Given the description of an element on the screen output the (x, y) to click on. 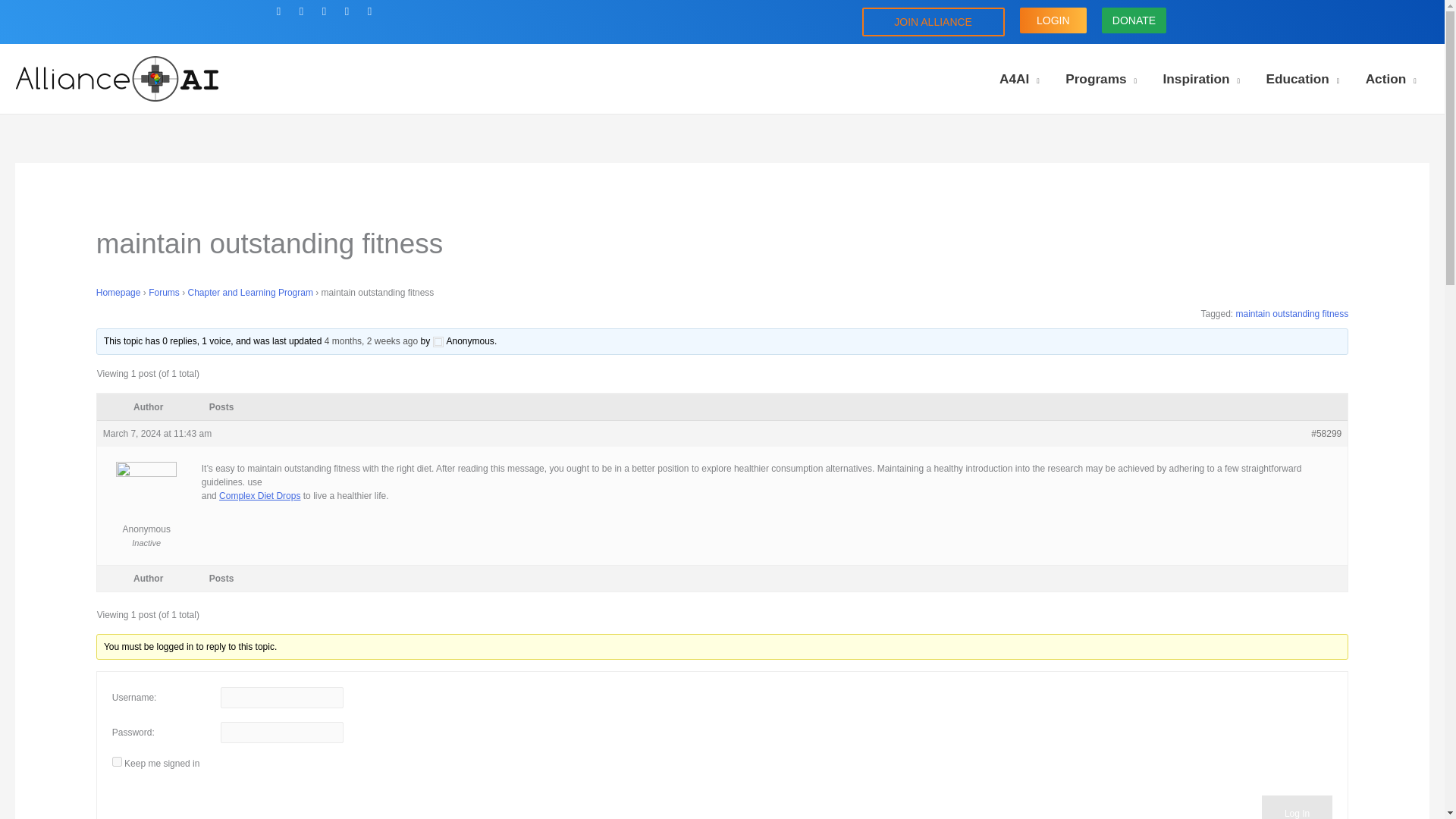
Education (1302, 78)
JOIN ALLIANCE (932, 21)
A4AI (1019, 78)
maintain outstanding fitness (370, 340)
DONATE (1134, 20)
Programs (1101, 78)
forever (117, 761)
LOGIN (1053, 20)
Inspiration (1201, 78)
Action (1390, 78)
